Given the description of an element on the screen output the (x, y) to click on. 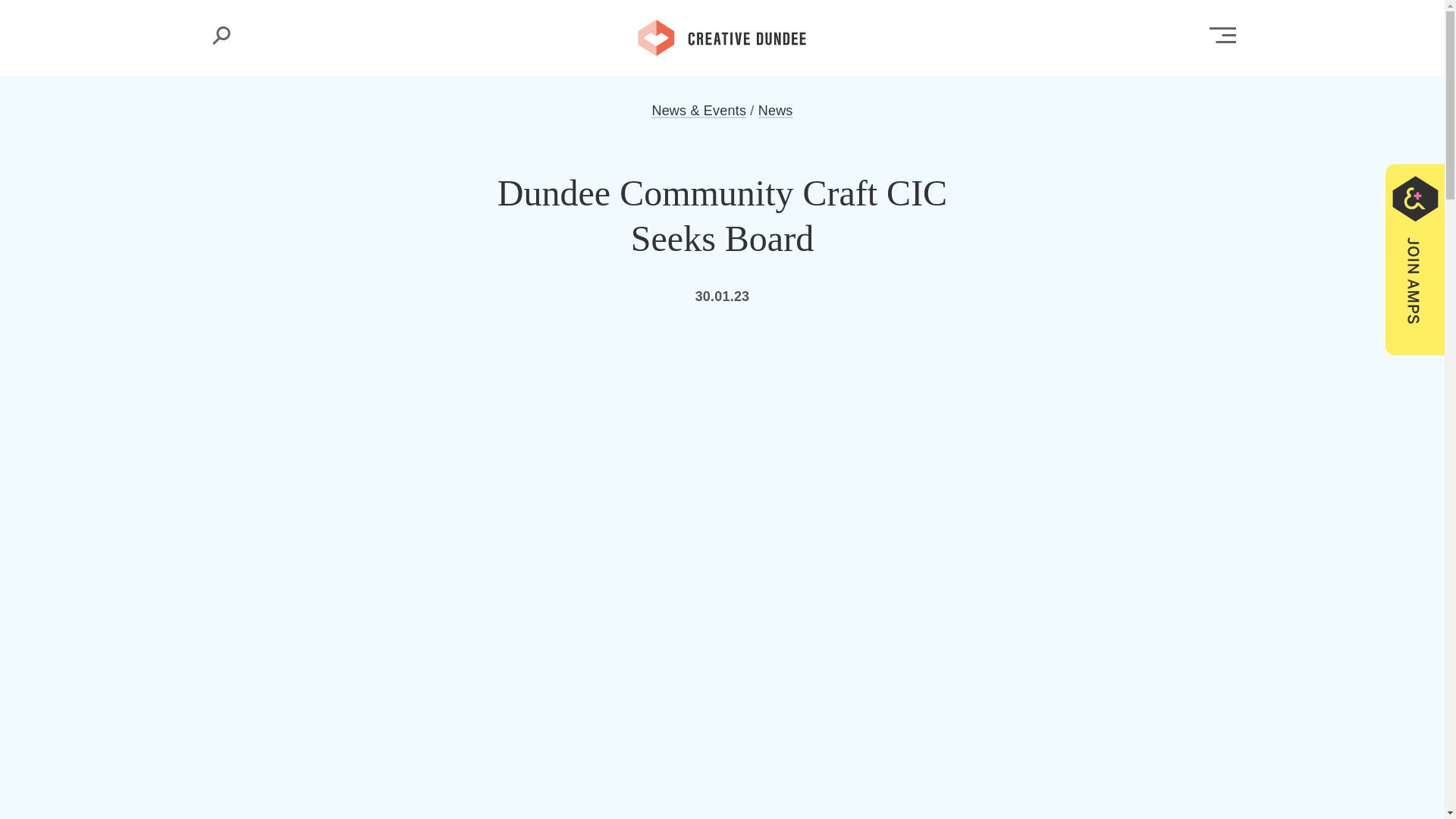
Open Main Menu (1222, 35)
Search (221, 34)
Creative Dundee (721, 36)
News (775, 110)
